Given the description of an element on the screen output the (x, y) to click on. 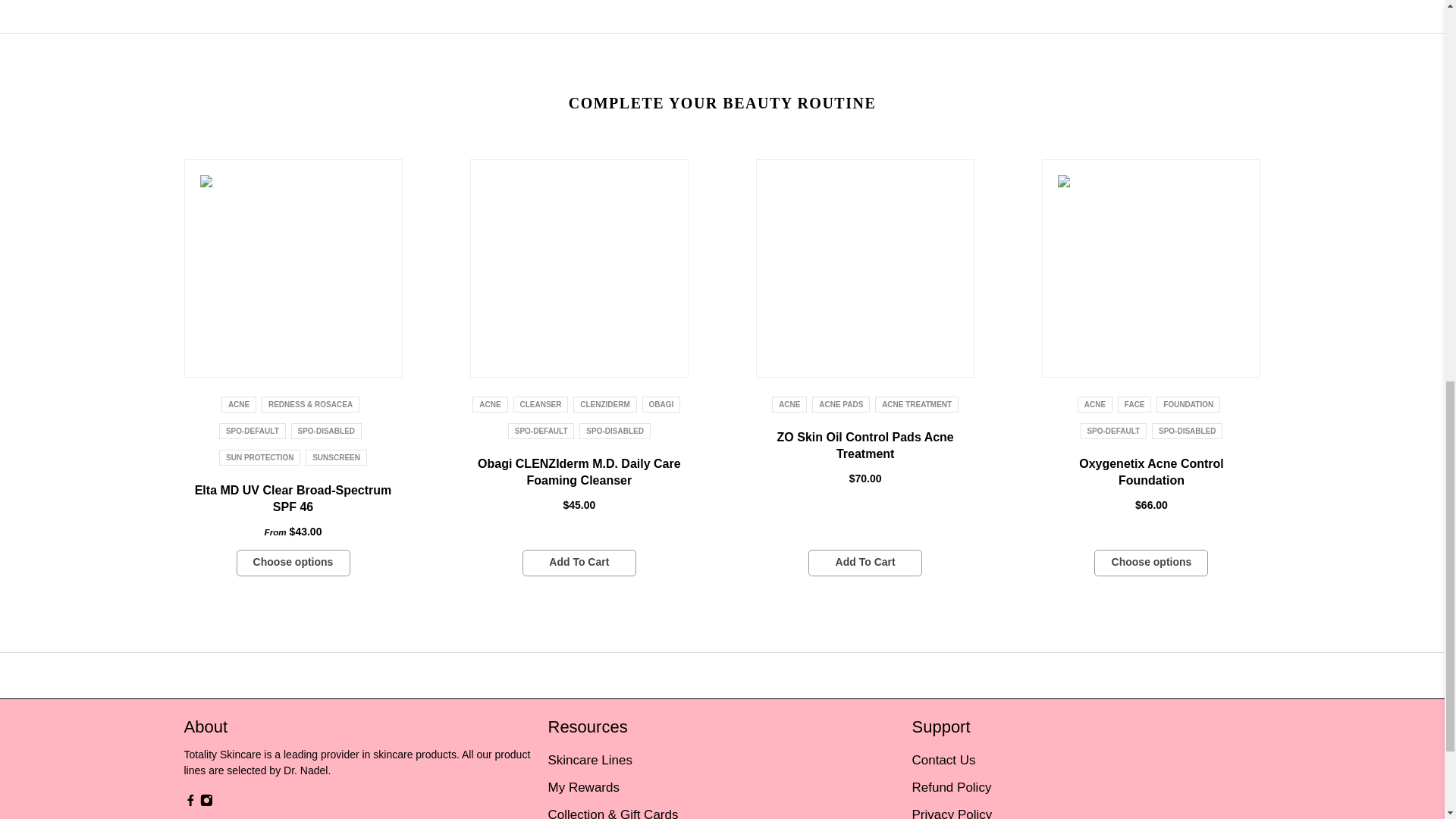
Products tagged Sun Protection (259, 457)
Products tagged Acne (489, 404)
Products tagged spo-disabled (326, 430)
Products tagged Sunscreen (336, 457)
Products tagged Acne (238, 404)
Products tagged spo-default (252, 430)
